Given the description of an element on the screen output the (x, y) to click on. 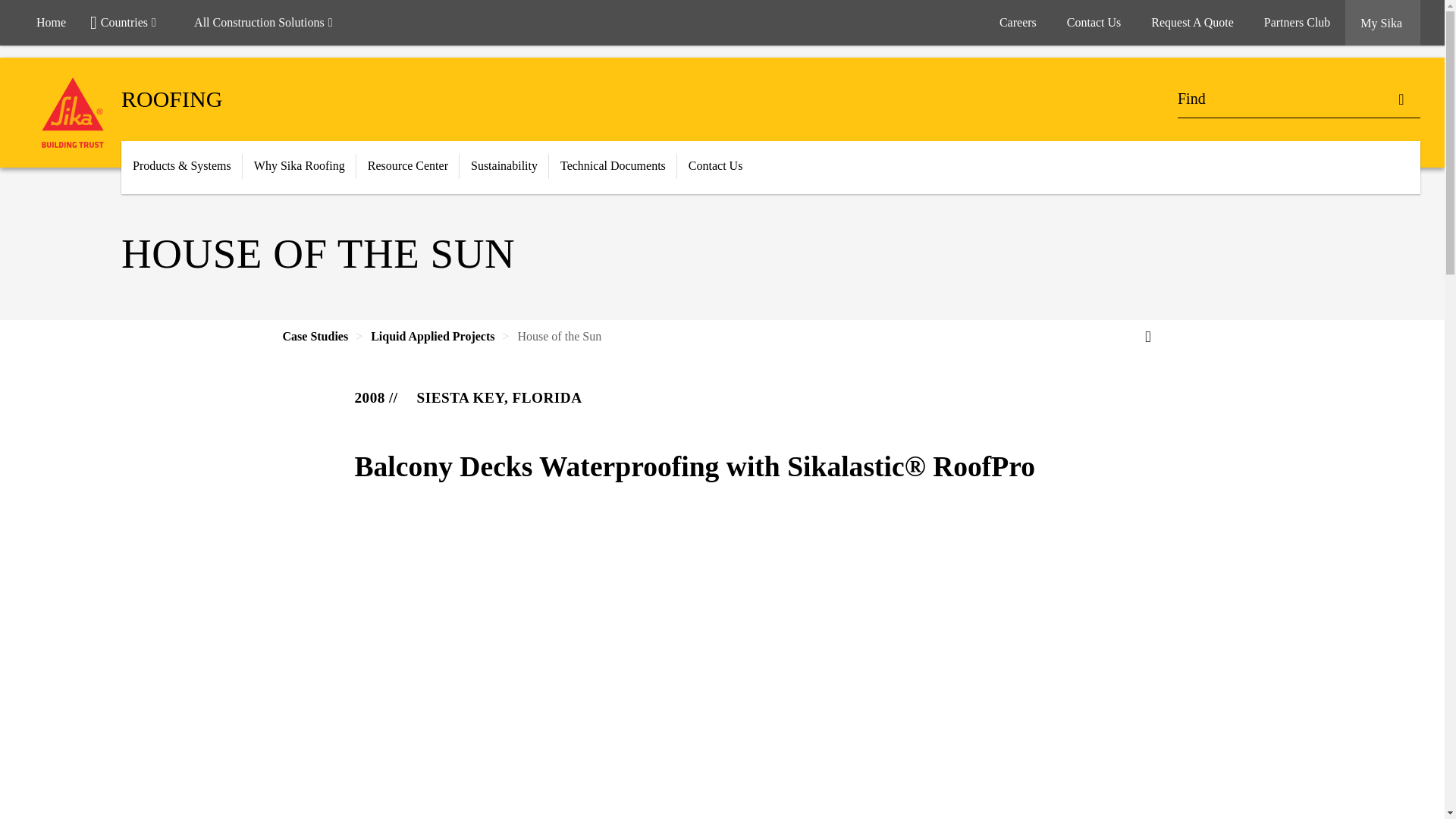
Home (51, 22)
Request A Quote (1191, 22)
Careers (1017, 22)
My Sika  (1383, 22)
All Construction Solutions (270, 22)
Contact Us (1094, 22)
Countries (130, 22)
Partners Club (1297, 22)
Sika Logo (72, 112)
